Given the description of an element on the screen output the (x, y) to click on. 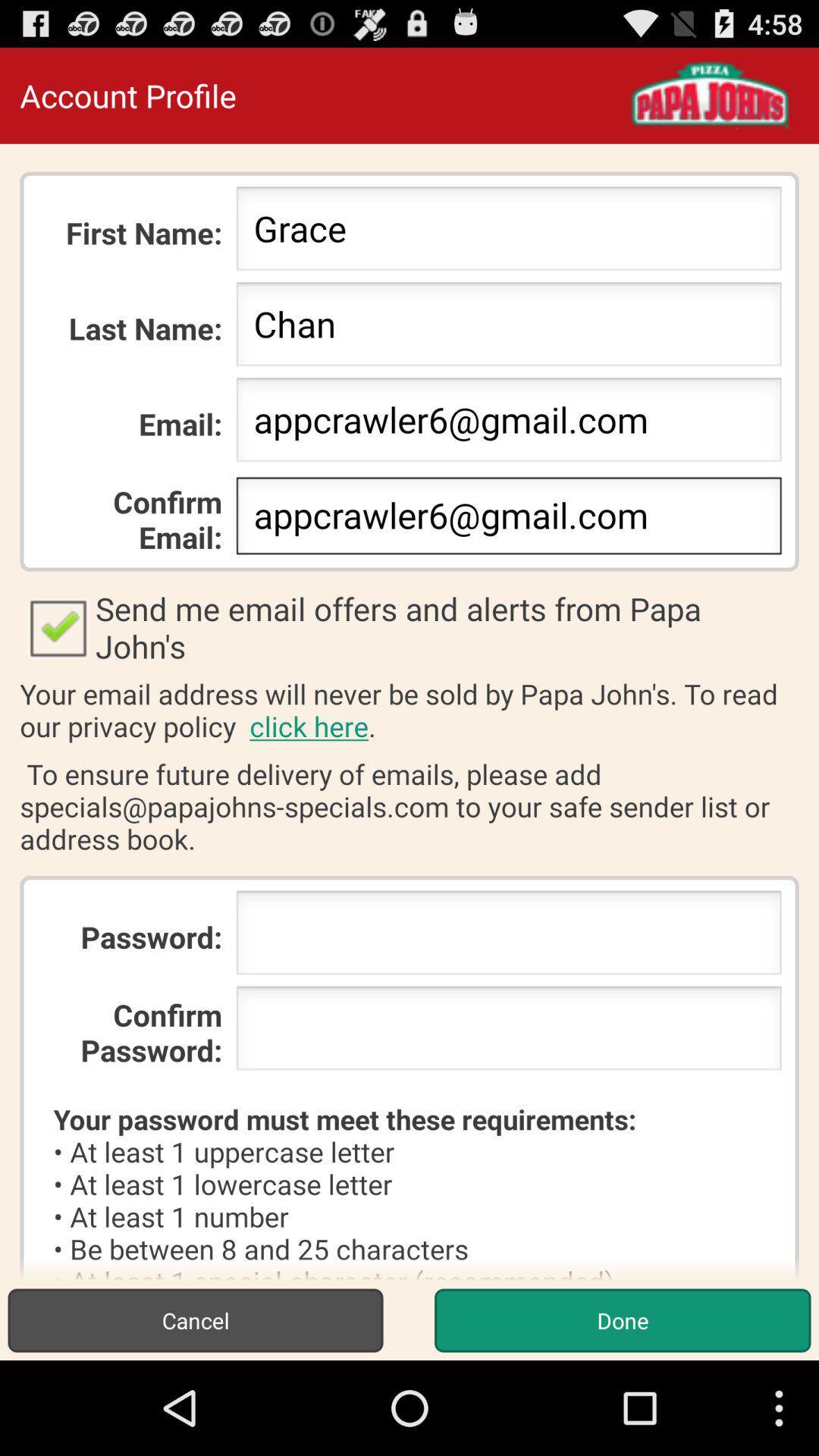
turn on icon below the grace item (508, 328)
